Given the description of an element on the screen output the (x, y) to click on. 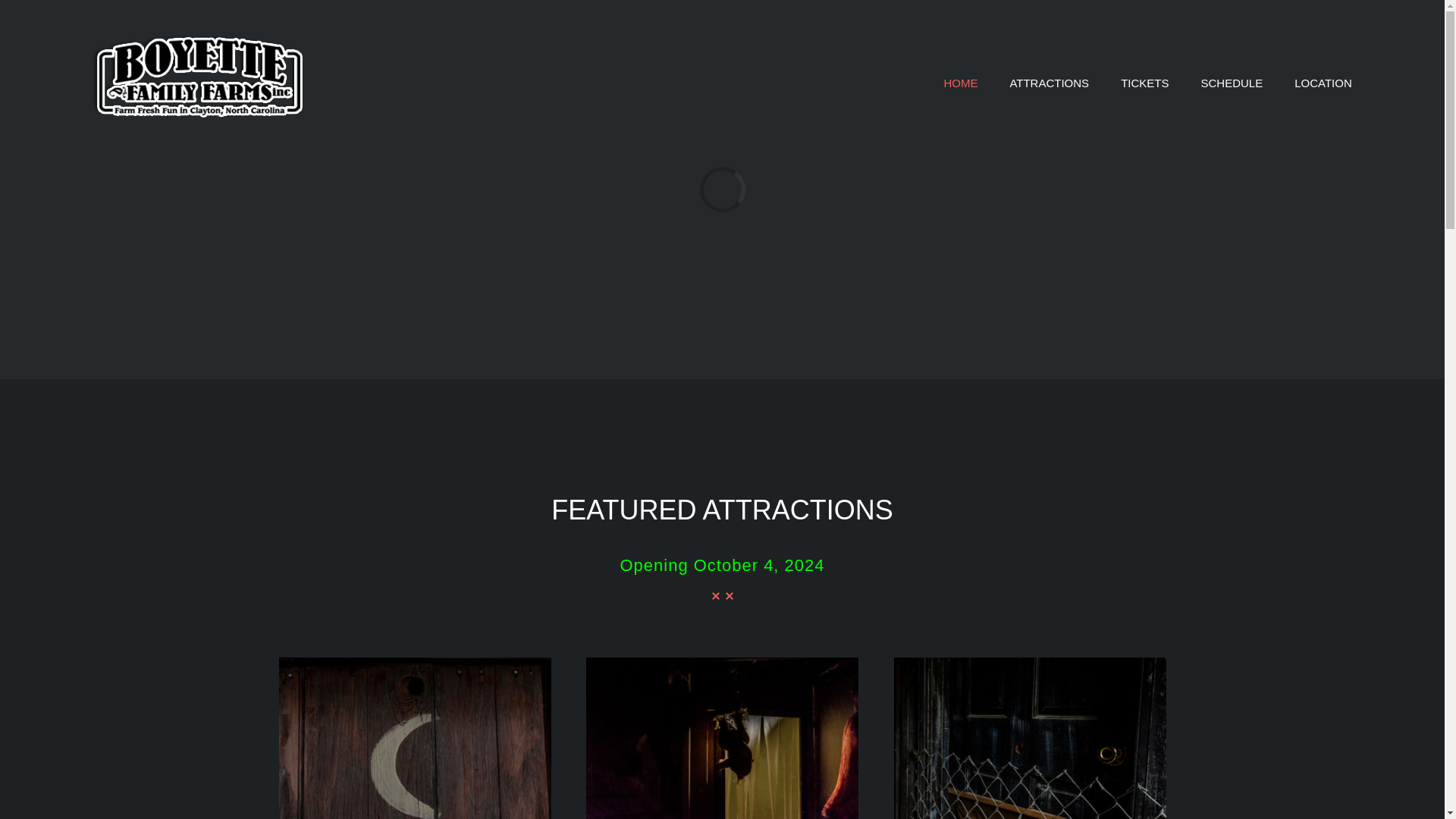
HOME (959, 83)
divider-xx-red (722, 595)
TICKETS (1145, 83)
SCHEDULE (1230, 83)
ATTRACTIONS (1049, 83)
LOCATION (1323, 83)
